Given the description of an element on the screen output the (x, y) to click on. 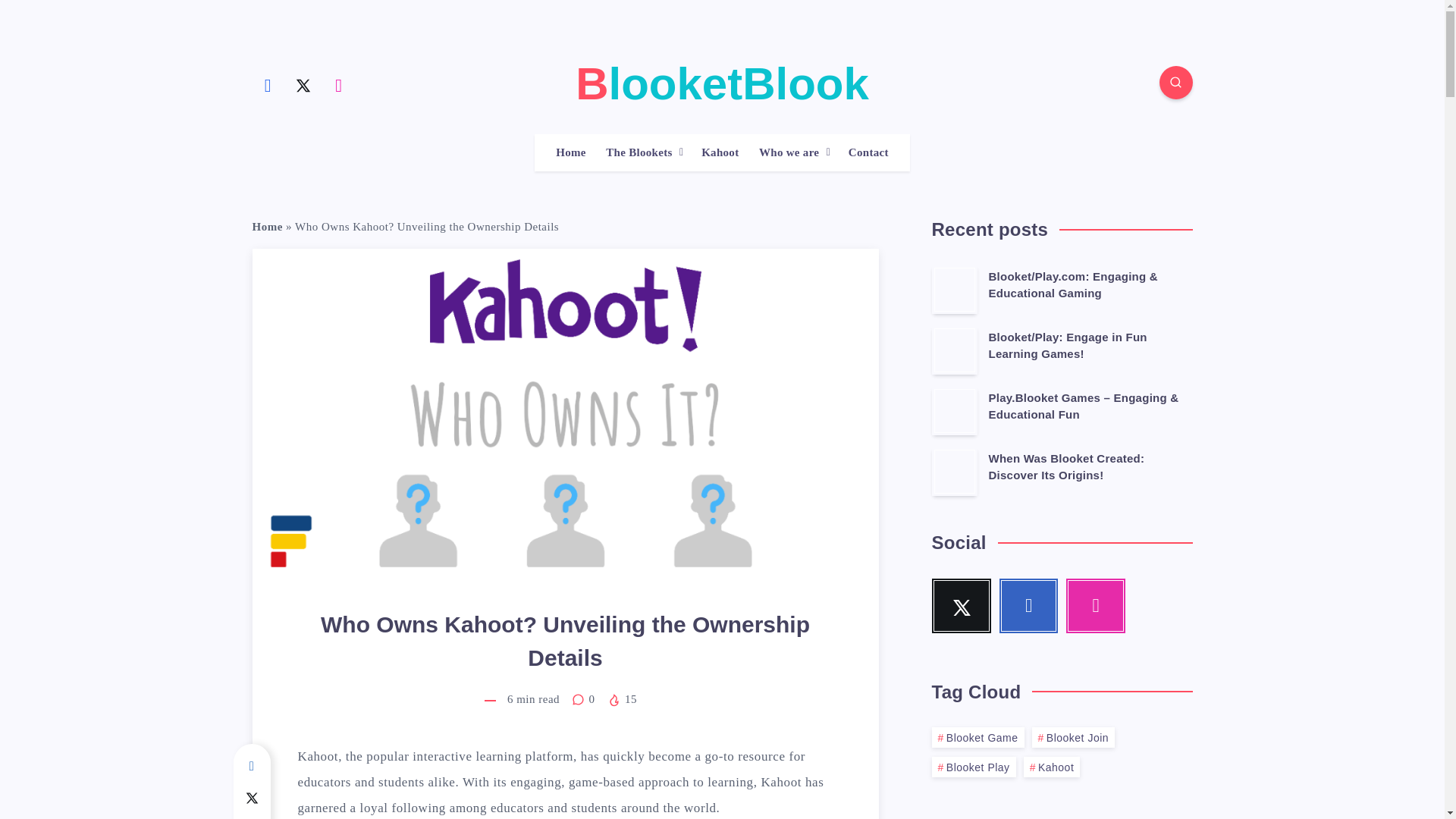
Contact (868, 152)
Home (266, 226)
Kahoot (719, 152)
0 (585, 698)
BlooketBlook (722, 83)
The Blookets (638, 152)
Who we are (788, 152)
15 Views (622, 698)
0 Comments (585, 698)
Home (571, 152)
